Given the description of an element on the screen output the (x, y) to click on. 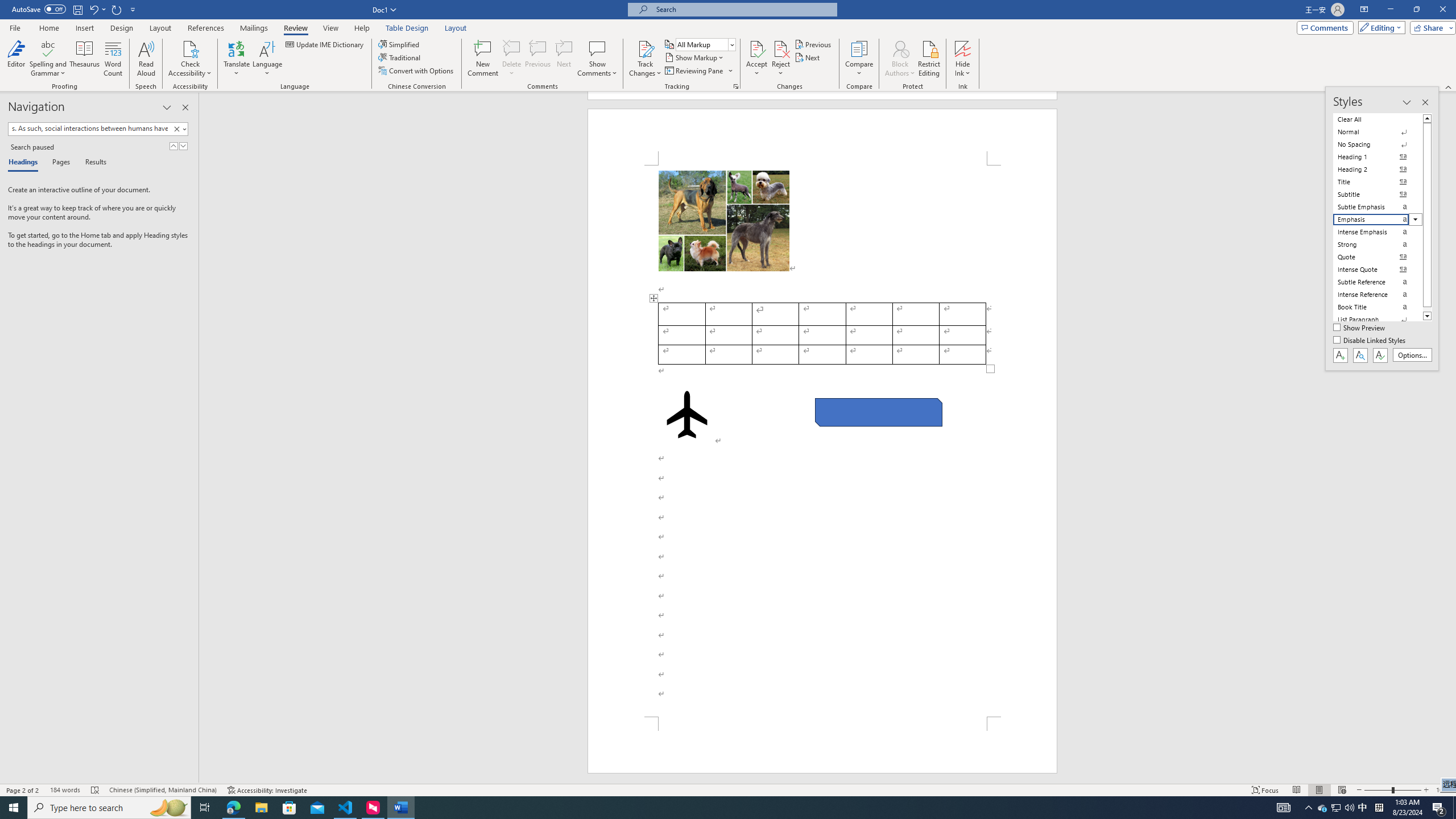
Check Accessibility (189, 48)
Show Markup (695, 56)
Spelling and Grammar (48, 58)
